Given the description of an element on the screen output the (x, y) to click on. 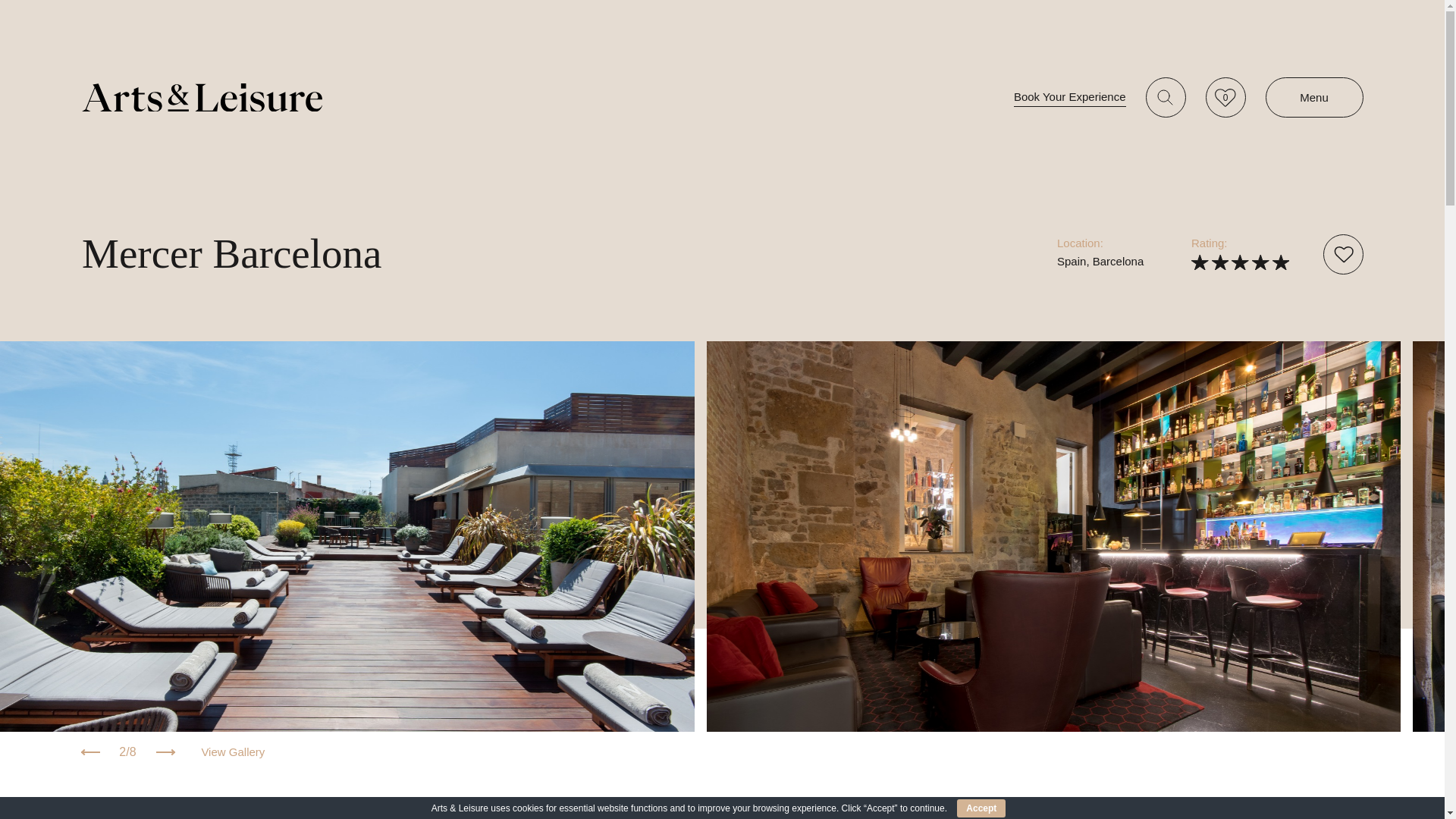
Favorite (1225, 96)
Book Your Experience (1342, 253)
Menu (1069, 97)
View Gallery (1313, 96)
